Given the description of an element on the screen output the (x, y) to click on. 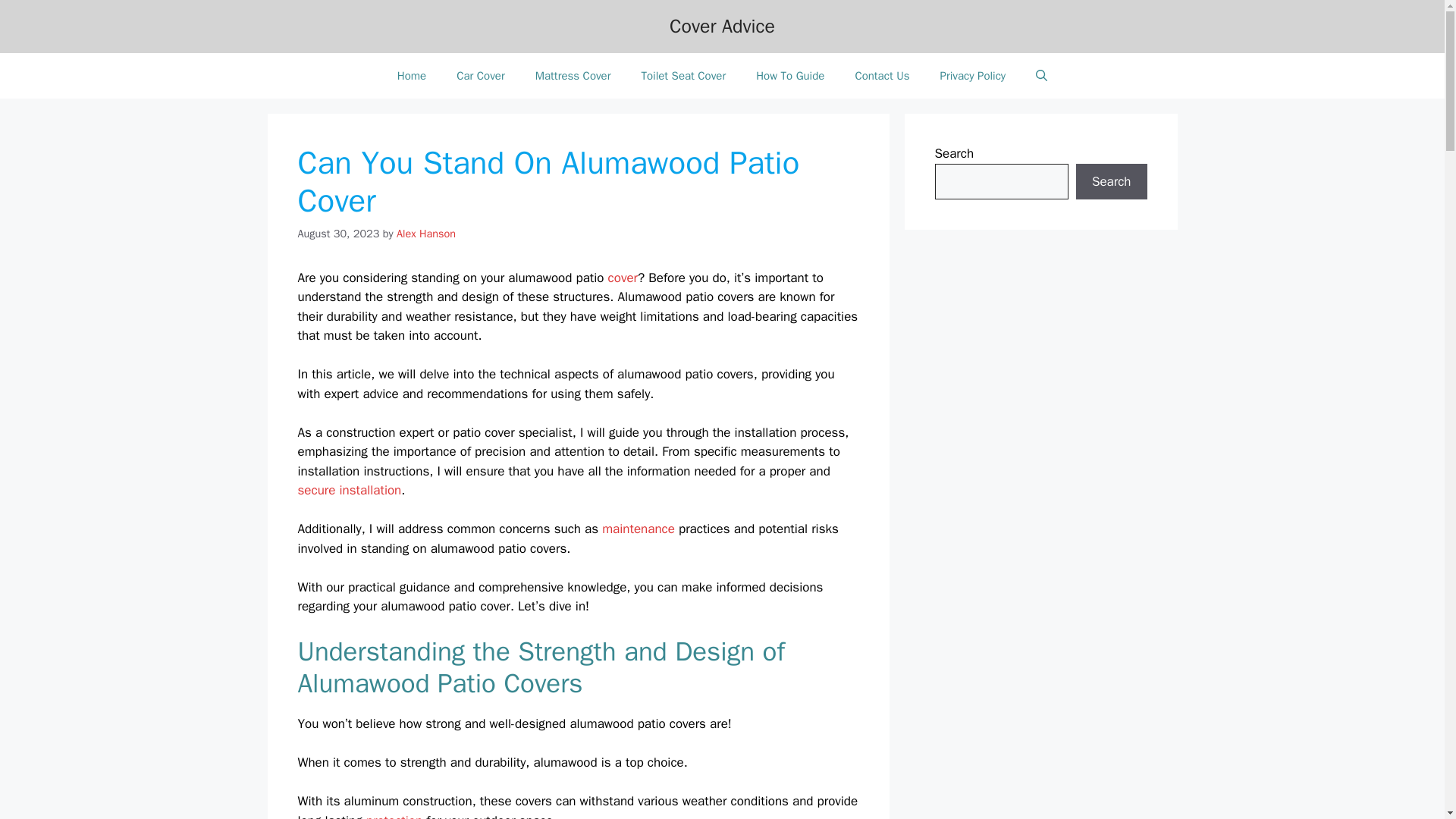
View all posts by Alex Hanson (425, 233)
How To Guide (790, 75)
Contact Us (882, 75)
Toilet Seat Cover (683, 75)
cover (622, 277)
protection (394, 816)
secure installation (349, 489)
Car Cover (480, 75)
Home (411, 75)
Cover Advice (721, 25)
Search (1111, 181)
maintenance (638, 528)
Alex Hanson (425, 233)
Mattress Cover (572, 75)
Privacy Policy (973, 75)
